Given the description of an element on the screen output the (x, y) to click on. 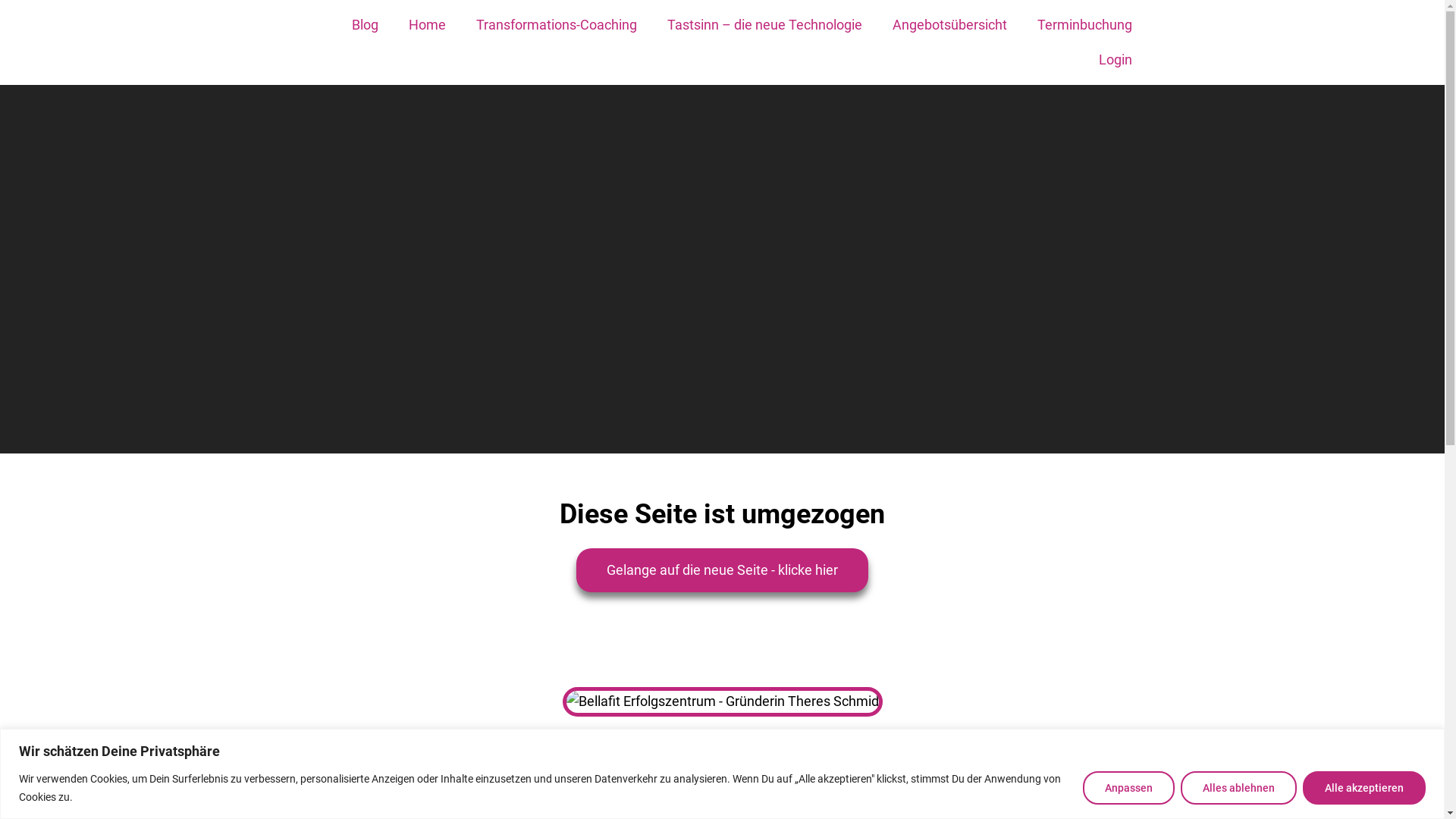
Anpassen Element type: text (1128, 786)
Login Element type: text (1114, 59)
Blog Element type: text (364, 24)
Alles ablehnen Element type: text (1238, 786)
Alle akzeptieren Element type: text (1363, 786)
Gelange auf die neue Seite - klicke hier Element type: text (722, 570)
Transformations-Coaching Element type: text (556, 24)
Home Element type: text (426, 24)
Terminbuchung Element type: text (1084, 24)
